Given the description of an element on the screen output the (x, y) to click on. 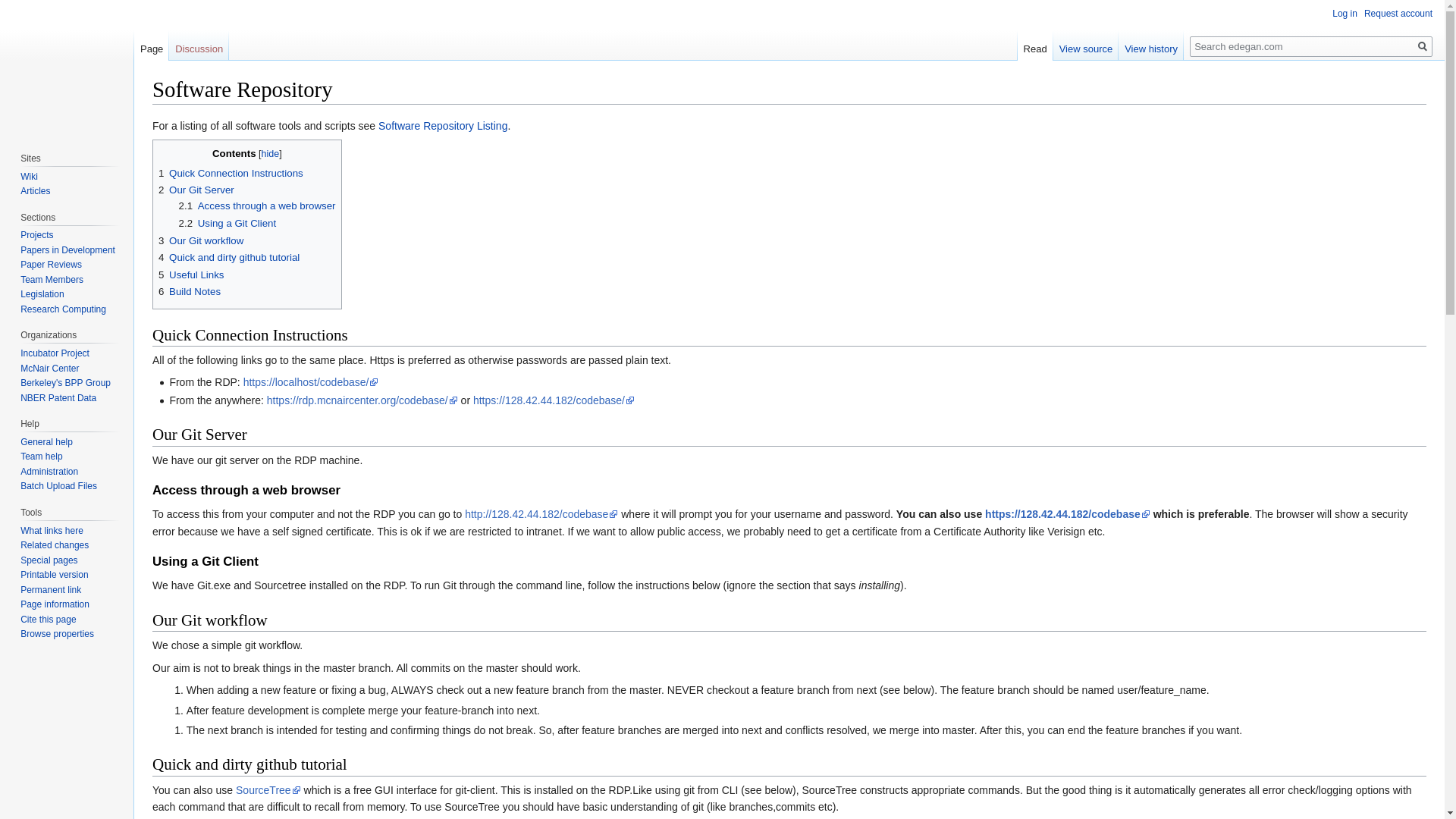
View source (1085, 45)
1 Quick Connection Instructions (230, 173)
6 Build Notes (189, 291)
Read (1034, 45)
Software Repository Listing (442, 125)
Request account (1398, 13)
Visit the main page (66, 60)
Log in (1344, 13)
Search (1422, 46)
5 Useful Links (191, 274)
View history (1150, 45)
Articles (34, 190)
Search (1422, 46)
Go (1422, 46)
2 Our Git Server (196, 189)
